Given the description of an element on the screen output the (x, y) to click on. 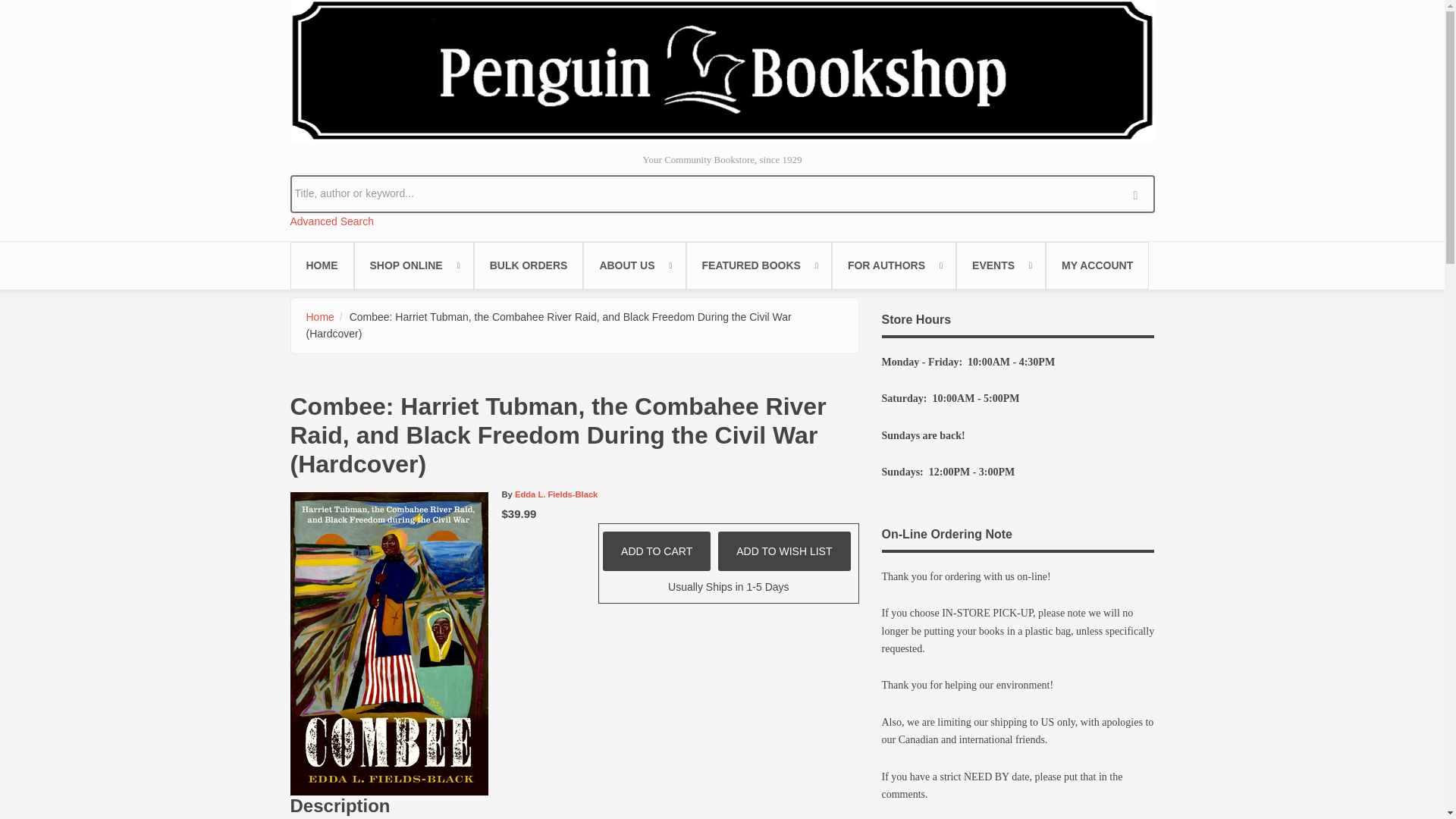
ABOUT US (634, 265)
BULK ORDERS (528, 265)
Add to Cart (656, 550)
Self-published author information (893, 265)
FOR AUTHORS (893, 265)
Advanced Search (331, 221)
SHOP ONLINE (413, 265)
Edda L. Fields-Black (555, 493)
Add to Cart (656, 550)
Title, author or keyword... (721, 193)
FEATURED BOOKS (758, 265)
ADD TO WISH LIST (783, 550)
Home (721, 69)
EVENTS (1000, 265)
